Given the description of an element on the screen output the (x, y) to click on. 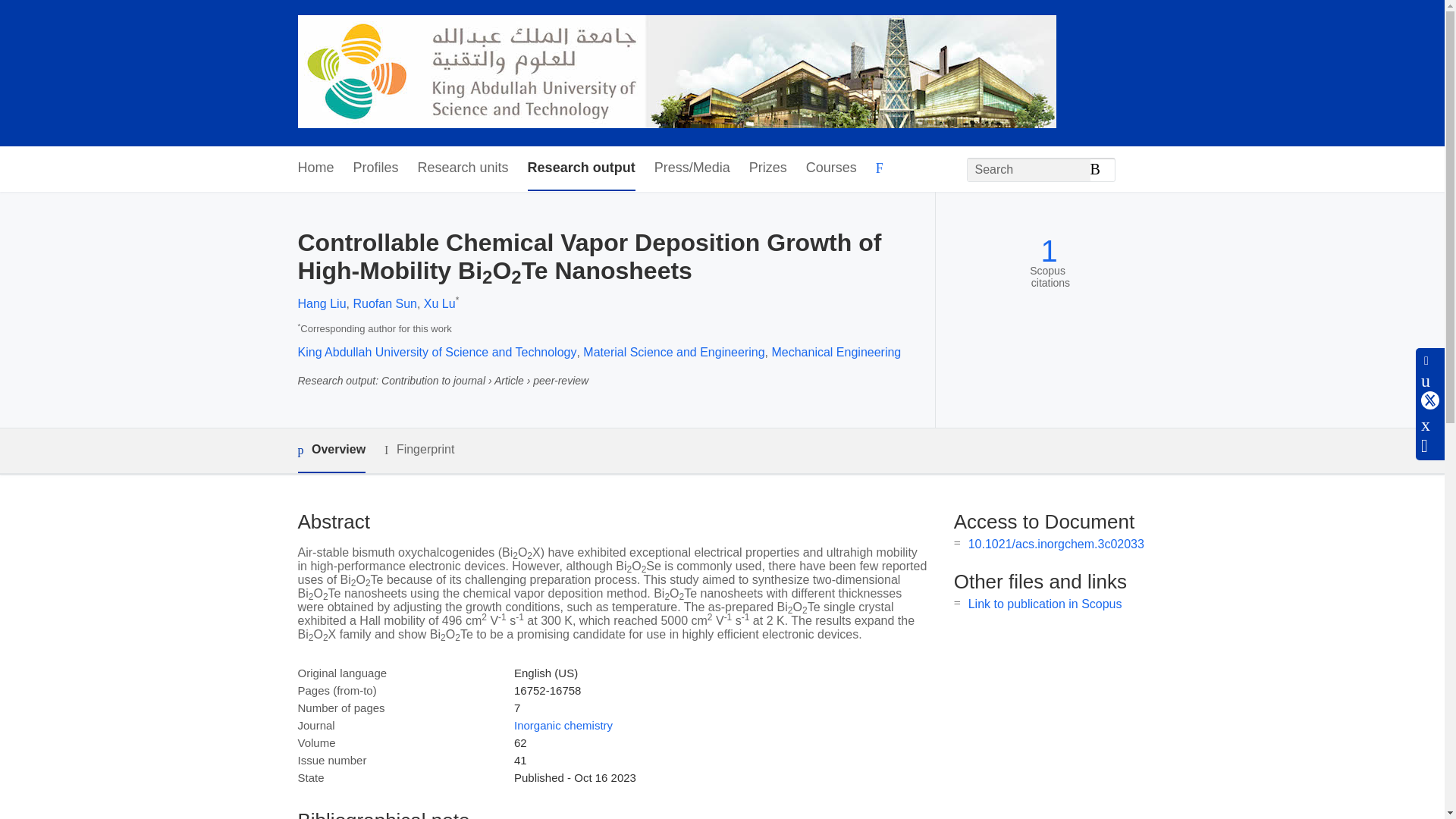
KAUST PORTAL FOR RESEARCHERS AND STUDENTS Home (676, 73)
Inorganic chemistry (562, 725)
Research output (580, 168)
Research units (462, 168)
Fingerprint (419, 449)
Overview (331, 450)
Profiles (375, 168)
Hang Liu (321, 303)
Xu Lu (439, 303)
